Given the description of an element on the screen output the (x, y) to click on. 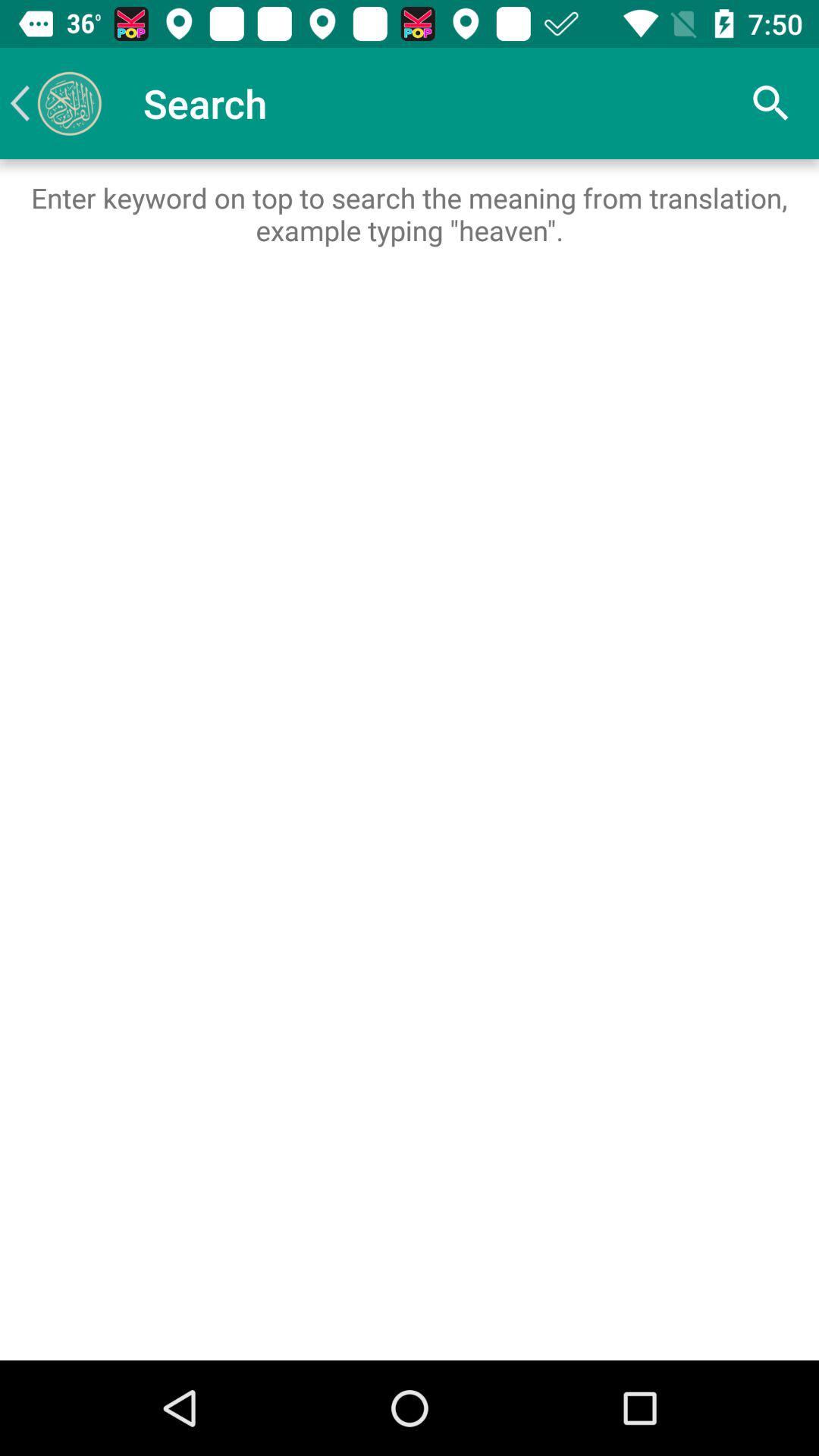
choose icon above the enter keyword on (55, 103)
